Given the description of an element on the screen output the (x, y) to click on. 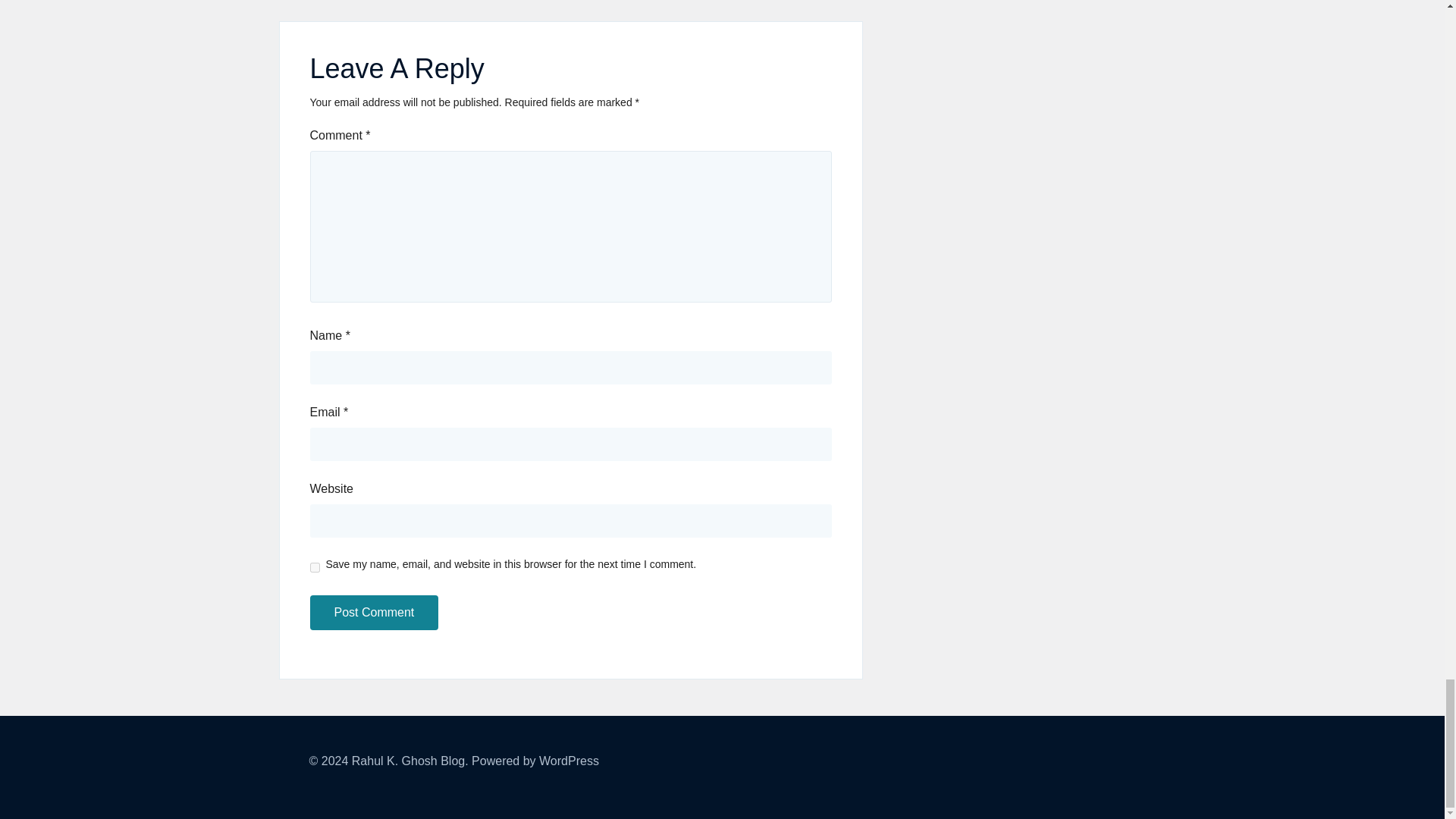
Rahul K. Ghosh Blog. (410, 760)
Powered by WordPress (534, 760)
Post Comment (373, 612)
Post Comment (373, 612)
yes (313, 567)
